Given the description of an element on the screen output the (x, y) to click on. 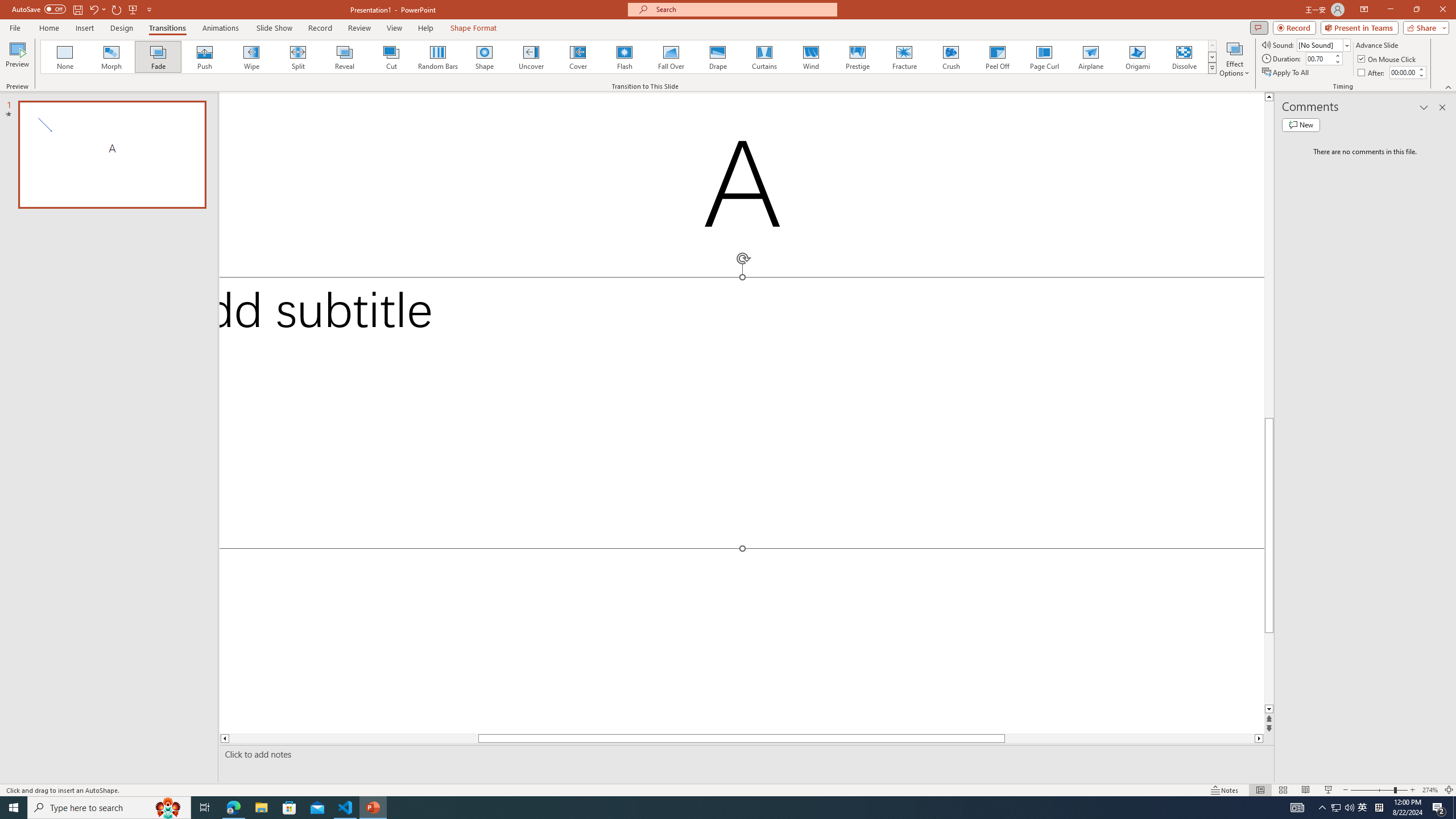
Uncover (531, 56)
Flash (624, 56)
Page Curl (1043, 56)
Curtains (764, 56)
Random Bars (437, 56)
Fall Over (670, 56)
